Given the description of an element on the screen output the (x, y) to click on. 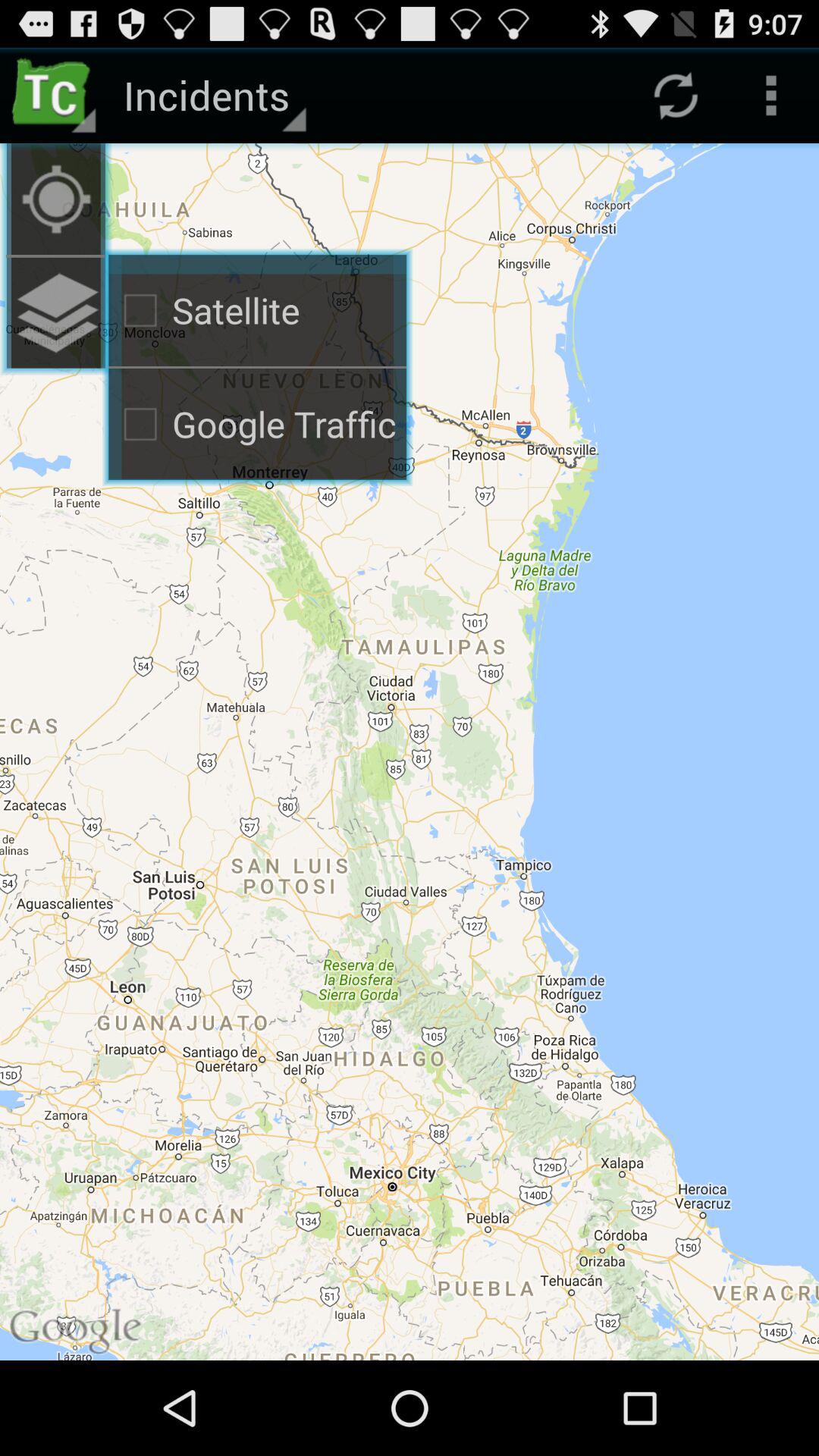
turn on the icon above google traffic item (55, 313)
